Given the description of an element on the screen output the (x, y) to click on. 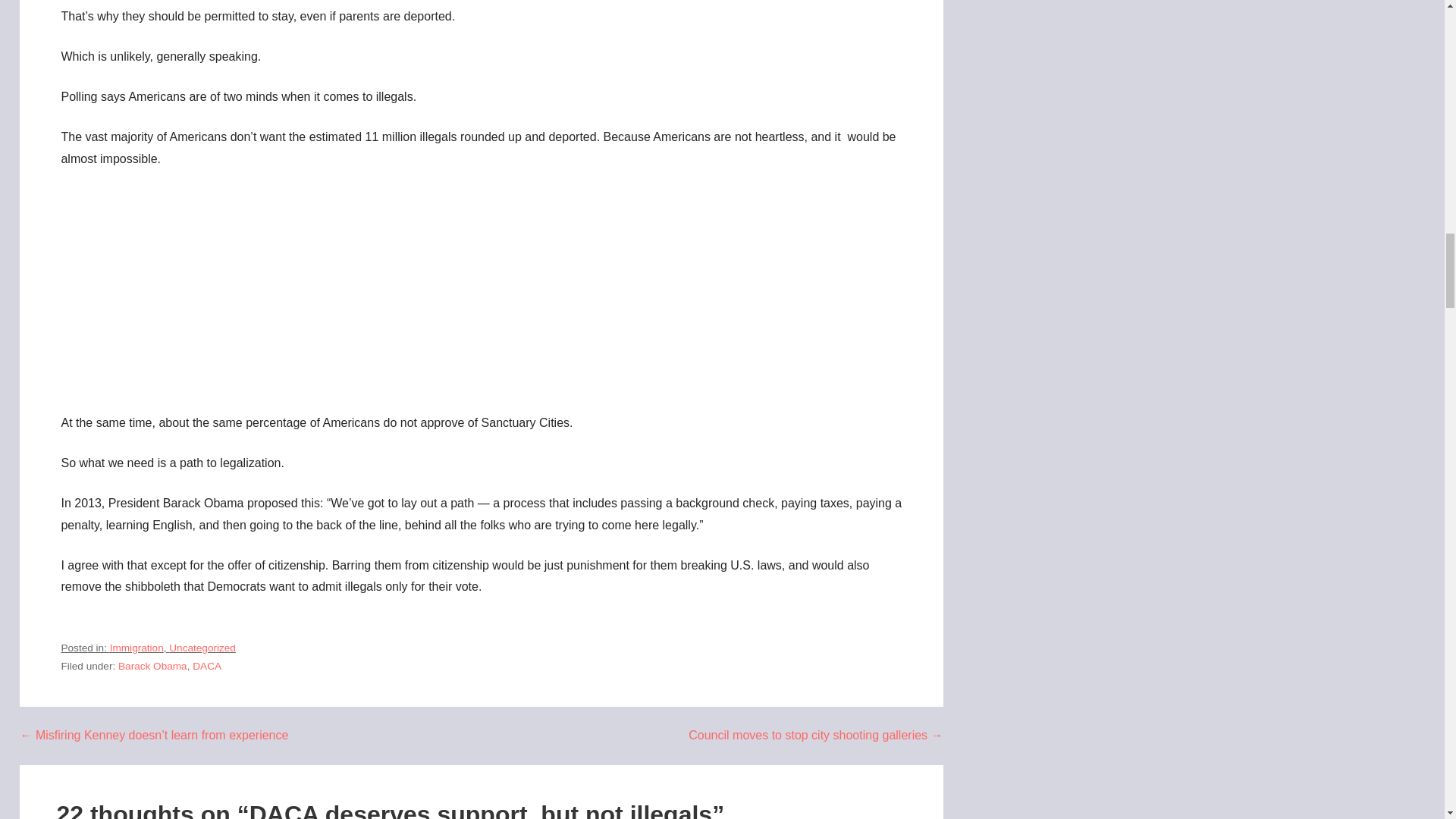
Uncategorized (201, 647)
Immigration (136, 647)
DACA (206, 665)
Barack Obama (152, 665)
